Given the description of an element on the screen output the (x, y) to click on. 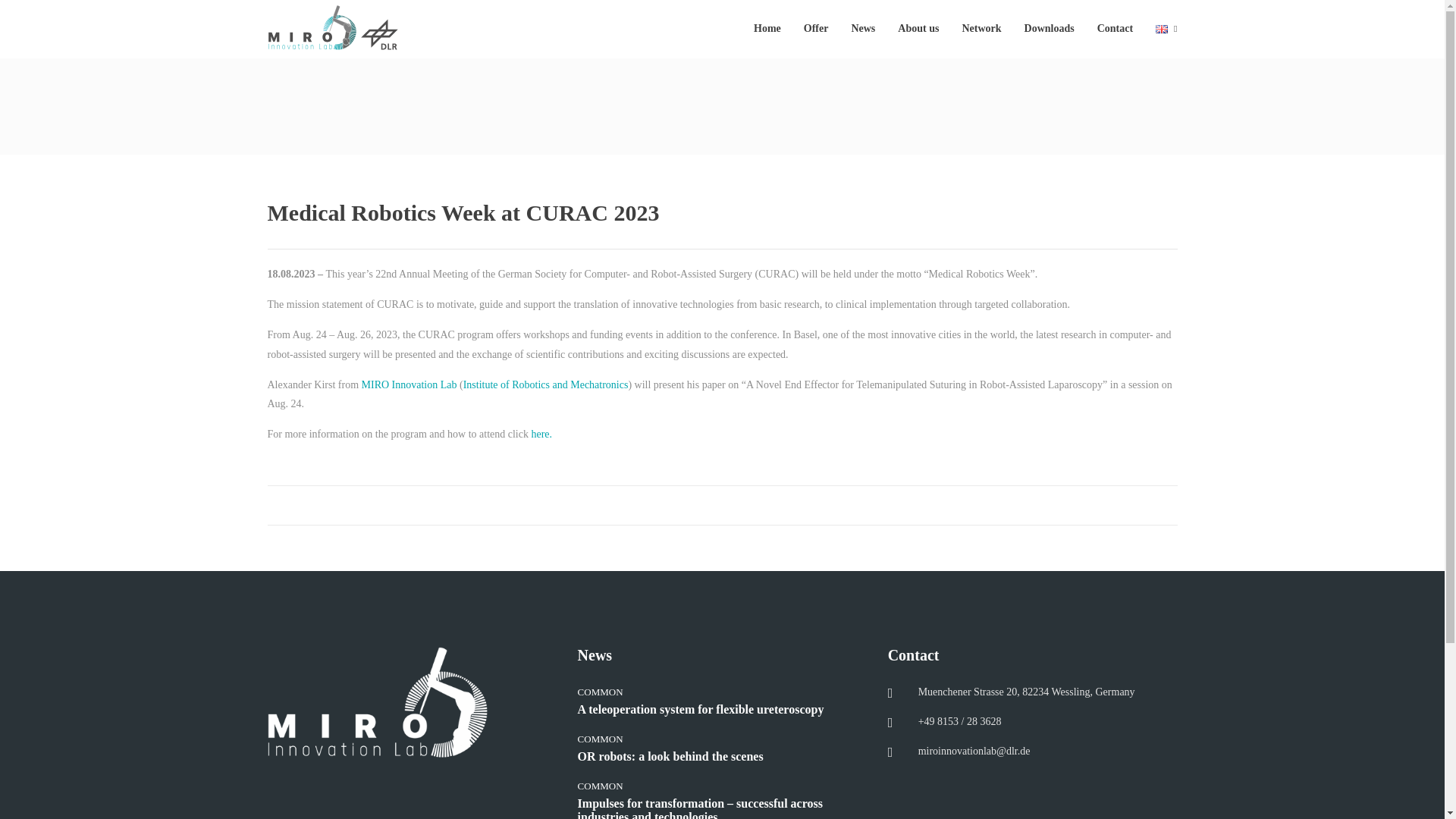
MIRO Innovation Lab (409, 384)
here. (541, 433)
Institute of Robotics and Mechatronics (545, 384)
English (1161, 29)
COMMON (600, 738)
COMMON (600, 691)
OR robots: a look behind the scenes (722, 763)
Medical Robotics Week at CURAC 2023 (721, 212)
COMMON (600, 785)
A teleoperation system for flexible ureteroscopy (722, 716)
